Given the description of an element on the screen output the (x, y) to click on. 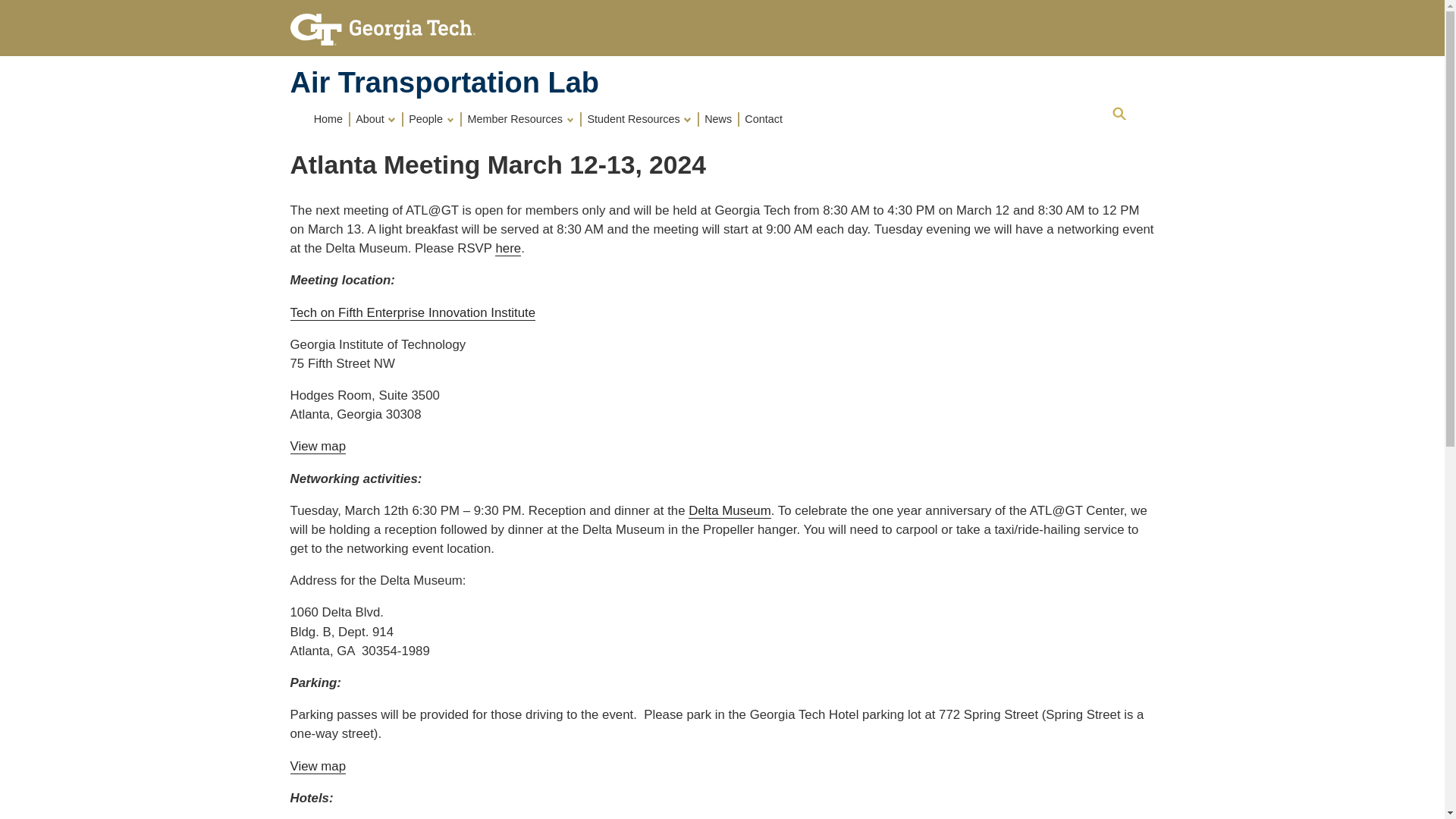
Tech on Fifth Enterprise Innovation Institute (412, 312)
View map (317, 766)
here (508, 247)
About (376, 119)
Air Transportation Lab (443, 82)
View map (317, 445)
Contact (764, 119)
Delta Museum (729, 510)
People (432, 119)
Student Resources (639, 119)
